Given the description of an element on the screen output the (x, y) to click on. 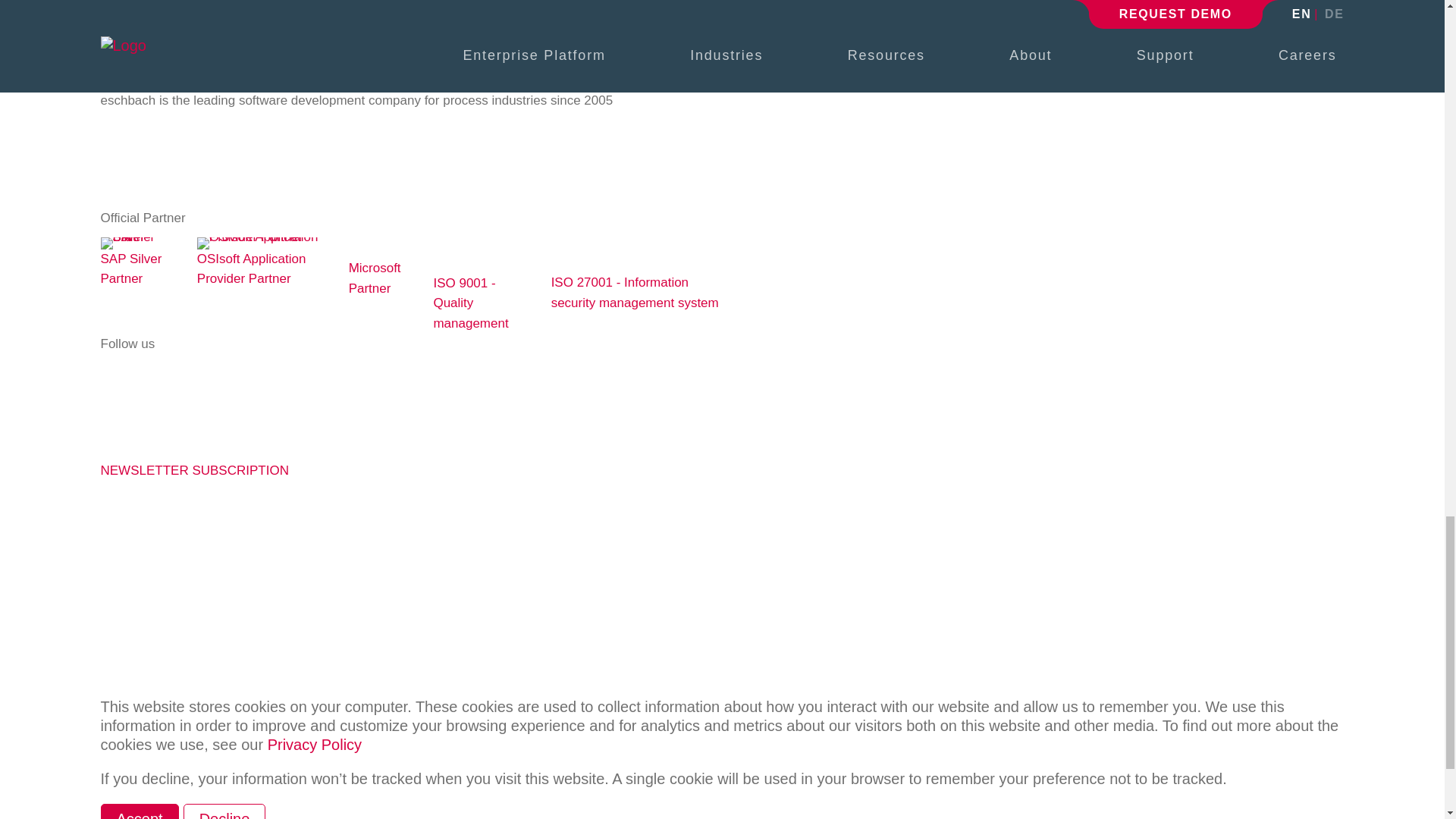
For chemical manufacturing (179, 61)
OSIsoft Application Provider Partner (257, 237)
For pharmaceutical manufacturing (197, 37)
About us (125, 149)
Microsoft Partner (376, 247)
ISO 27001 - Information security management system (584, 262)
ISO 9001 - Quality management (472, 262)
SAP Silver Partner (132, 237)
